Given the description of an element on the screen output the (x, y) to click on. 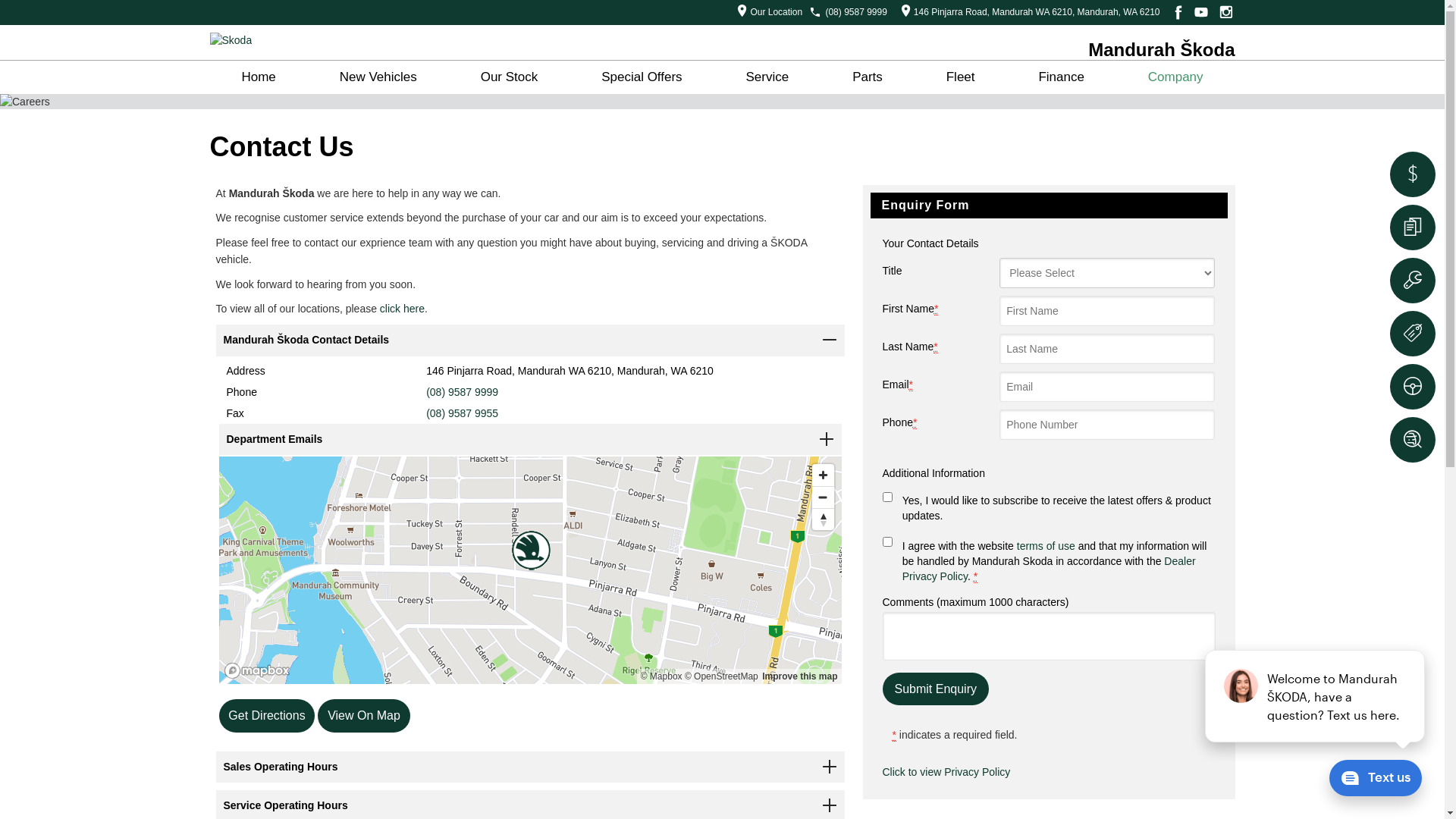
Facebook Element type: text (1175, 12)
Click to view Privacy Policy Element type: text (946, 771)
Our Stock Element type: text (509, 77)
Special Offers Element type: text (641, 77)
Zoom in Element type: hover (822, 475)
Company Element type: text (1175, 77)
(08) 9587 9999 Element type: text (462, 391)
Instagram Element type: text (1225, 12)
View On Map Element type: text (363, 715)
(08) 9587 9955 Element type: text (462, 413)
146 Pinjarra Road, Mandurah WA 6210, Mandurah, WA 6210 Element type: text (1026, 11)
Parts Element type: text (867, 77)
click here Element type: text (401, 308)
Zoom out Element type: hover (822, 497)
Get Directions Element type: text (266, 715)
terms of use Element type: text (1045, 545)
Improve this map Element type: text (799, 676)
Fleet Element type: text (960, 77)
Department Emails Element type: text (529, 439)
Reset bearing to north Element type: hover (822, 519)
Our Location Element type: text (765, 11)
Home Element type: text (258, 77)
YouTube Element type: text (1201, 12)
Sales Operating Hours Element type: text (529, 766)
podium webchat widget prompt Element type: hover (1315, 696)
Service Element type: text (767, 77)
New Vehicles Element type: text (377, 77)
Dealer Privacy Policy Element type: text (1048, 568)
(08) 9587 9999 Element type: text (855, 11)
Finance Element type: text (1060, 77)
Submit Enquiry Element type: text (935, 689)
